Given the description of an element on the screen output the (x, y) to click on. 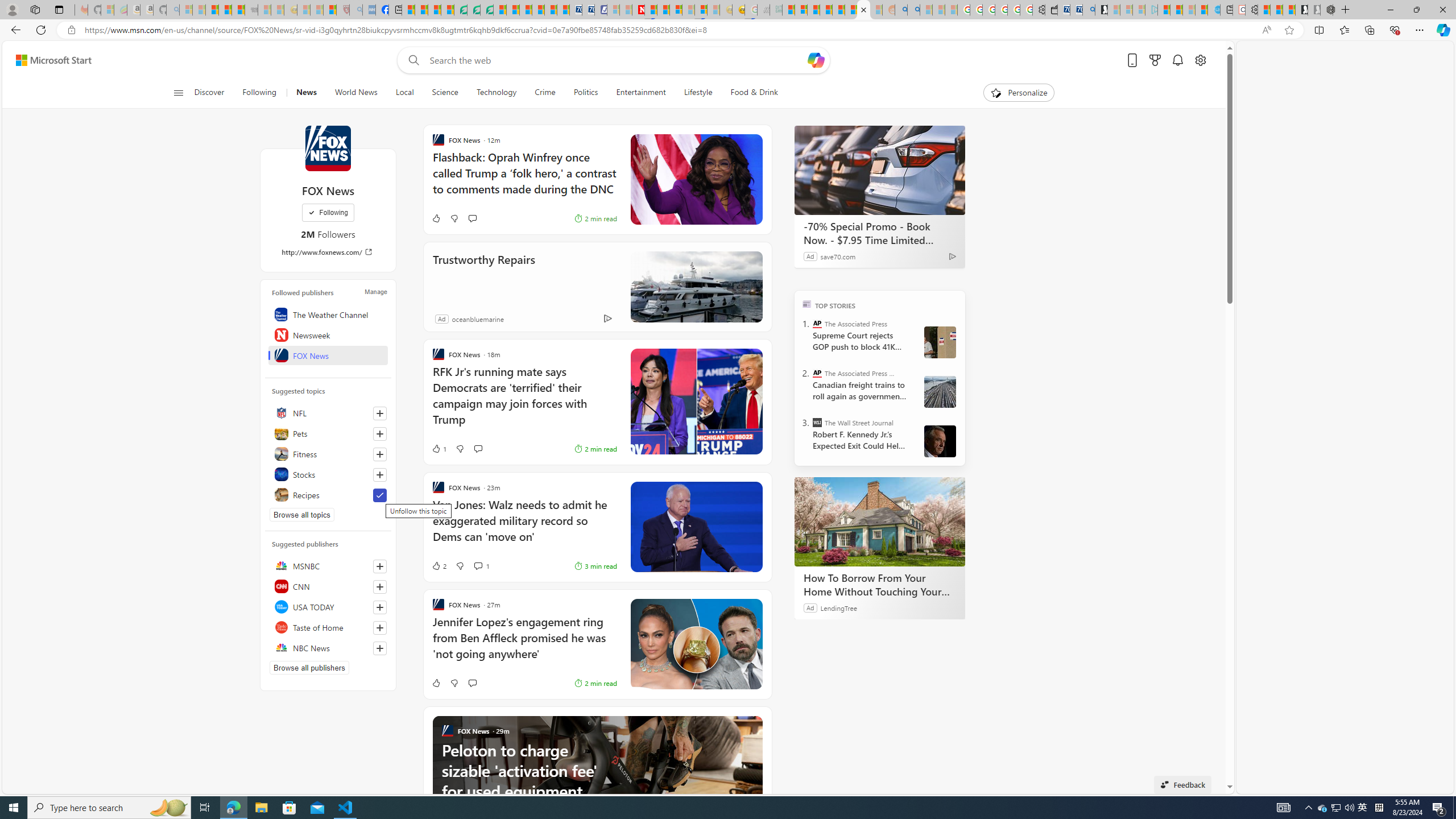
Recipes (327, 494)
The Wall Street Journal (816, 422)
FOX News (327, 355)
